Given the description of an element on the screen output the (x, y) to click on. 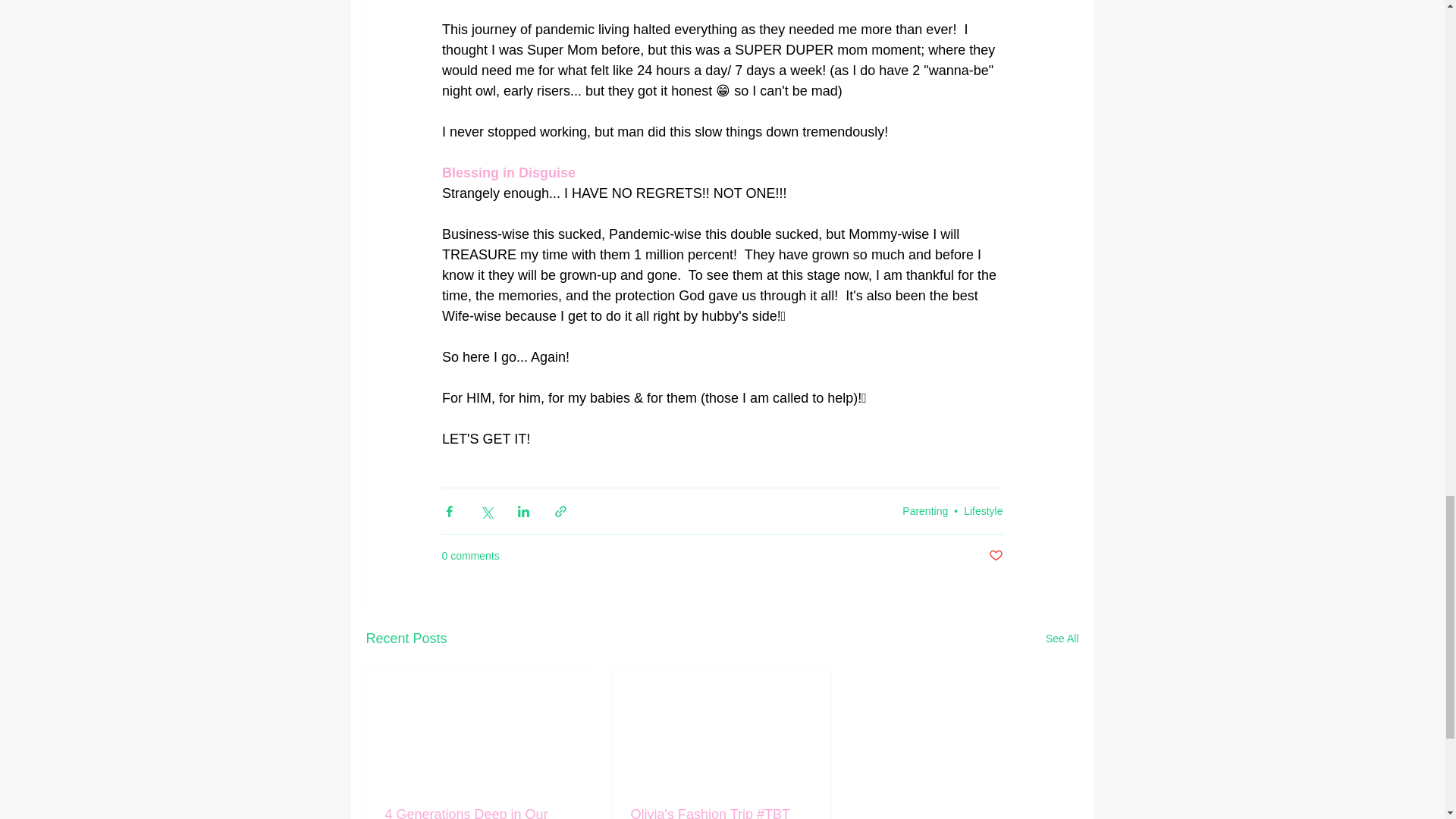
See All (1061, 639)
4 Generations Deep in Our Family Craft of Fashion! (476, 812)
Post not marked as liked (995, 555)
Parenting (924, 510)
Lifestyle (983, 510)
